Given the description of an element on the screen output the (x, y) to click on. 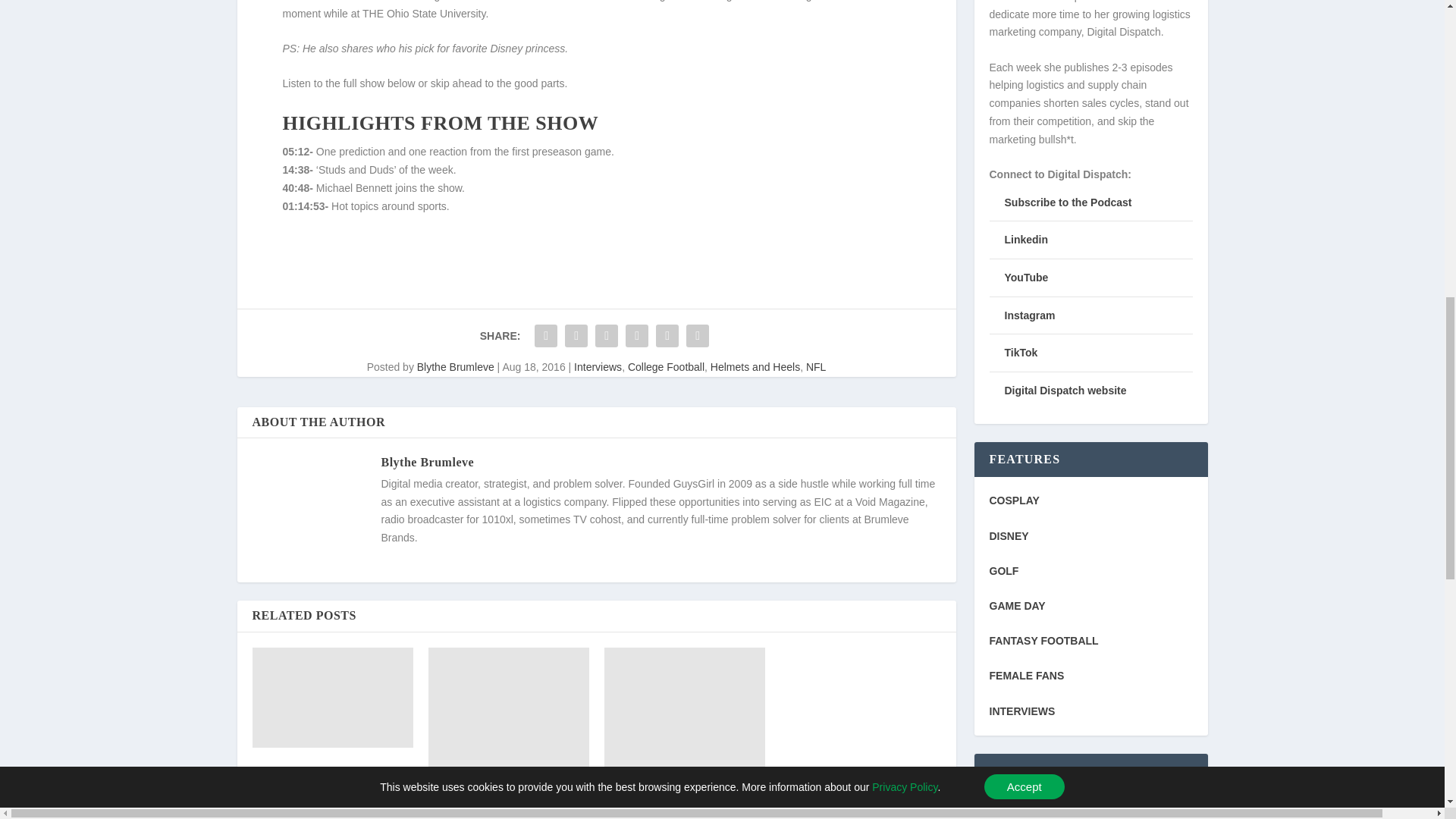
What to Wear To A Football Game (508, 714)
Helmets and Heels (754, 367)
NFL (815, 367)
Subscribe to the Podcast (1067, 202)
Blythe Brumleve (455, 367)
What to Wear: Game Day Shoes (684, 733)
What to Wear To A Football Game (496, 809)
Blythe Brumleve (427, 461)
NFL Position Breakdown: Special Teams (331, 696)
College Football (665, 367)
Interviews (597, 367)
NFL Position Breakdown: Special Teams (315, 779)
View all posts by Blythe Brumleve (427, 461)
Posts by Blythe Brumleve (455, 367)
